Given the description of an element on the screen output the (x, y) to click on. 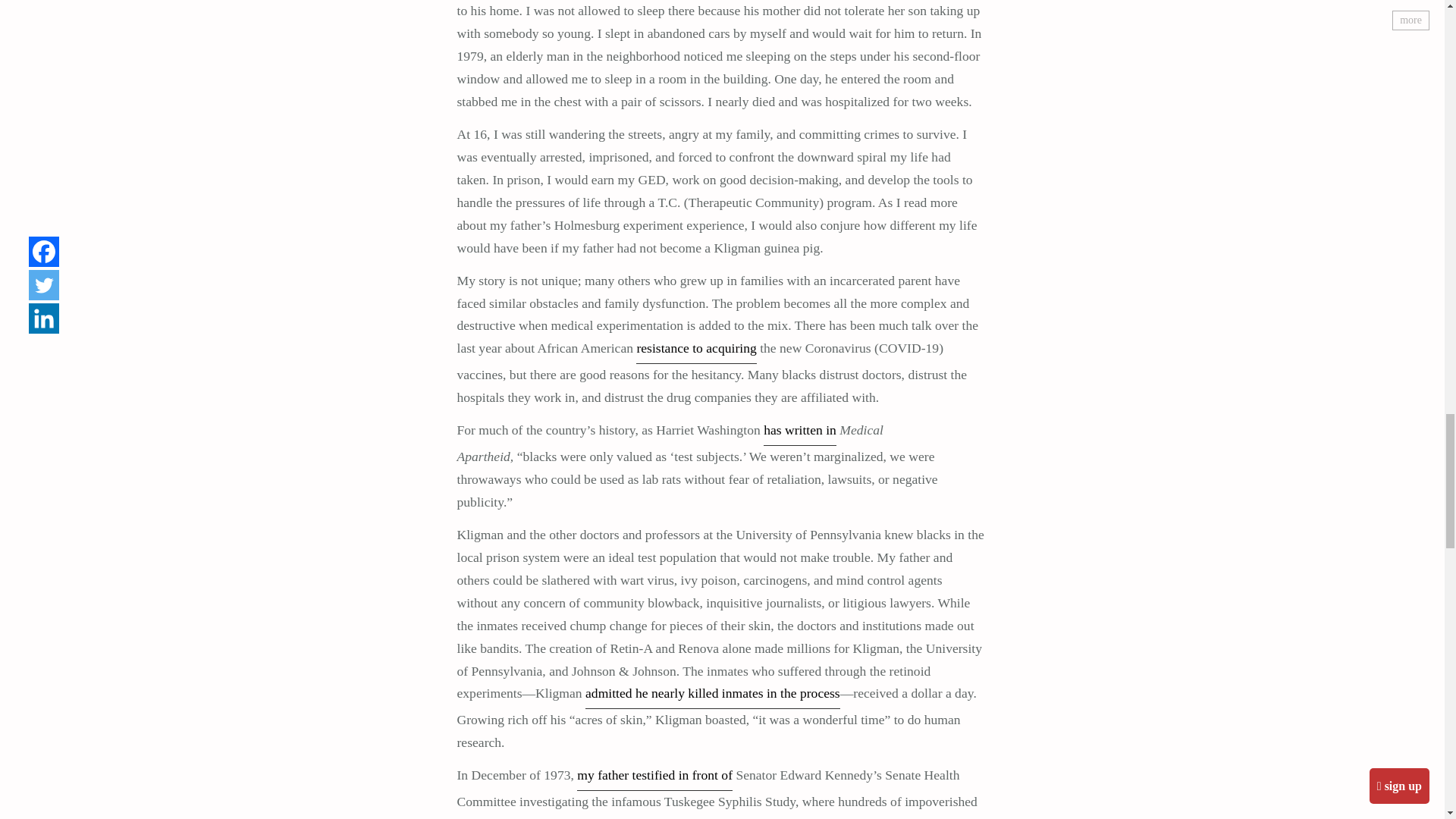
has written in (798, 432)
admitted he nearly killed inmates in the process (712, 695)
my father testified in front of (654, 777)
resistance to acquiring (695, 350)
